Given the description of an element on the screen output the (x, y) to click on. 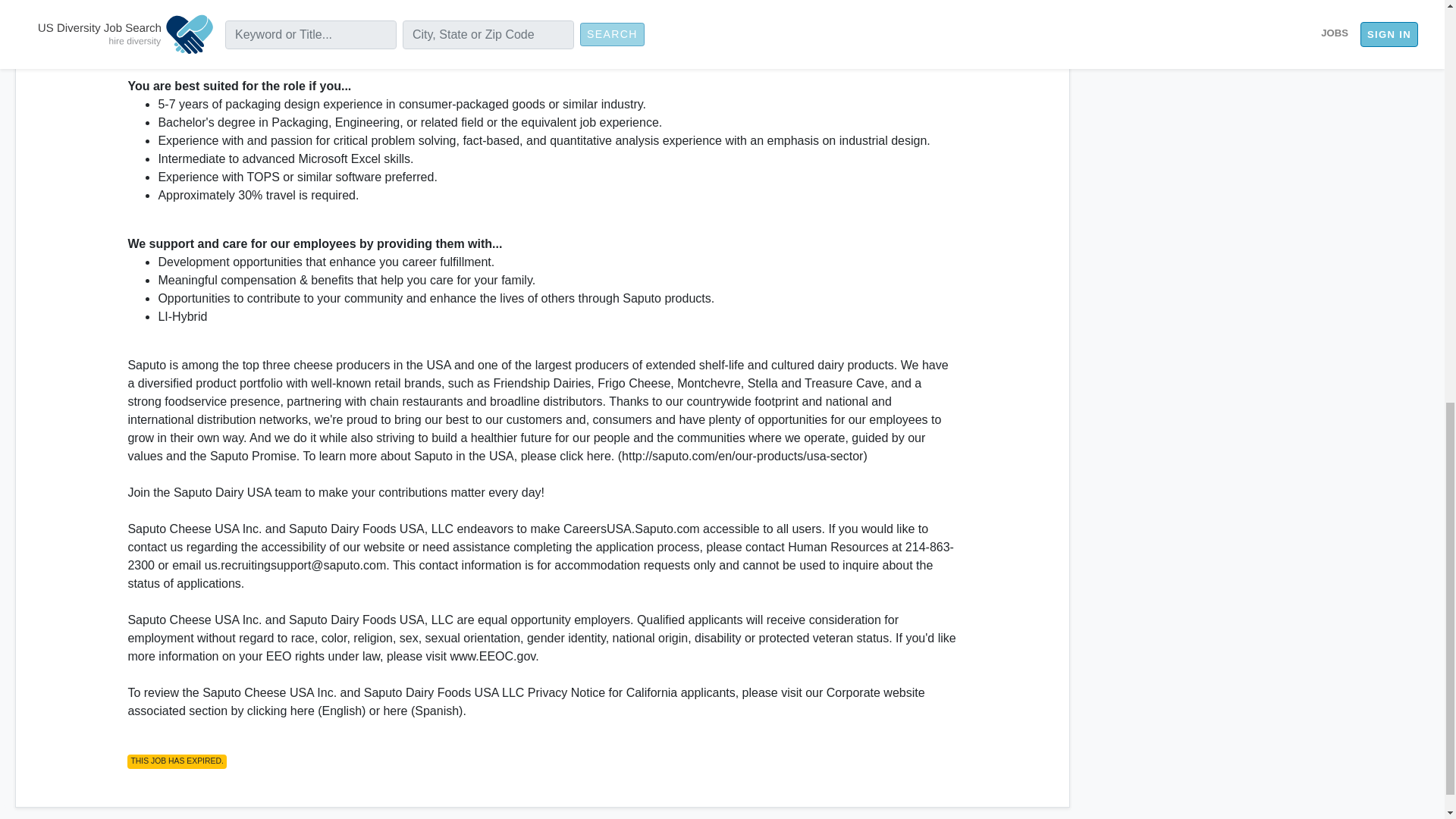
Email US Diversity Job Search (1240, 19)
Terms and Privacy Policy (1155, 39)
Link to Facebook (1209, 19)
Link to LinkedIn (1195, 19)
Link to Twitter (1225, 19)
